Given the description of an element on the screen output the (x, y) to click on. 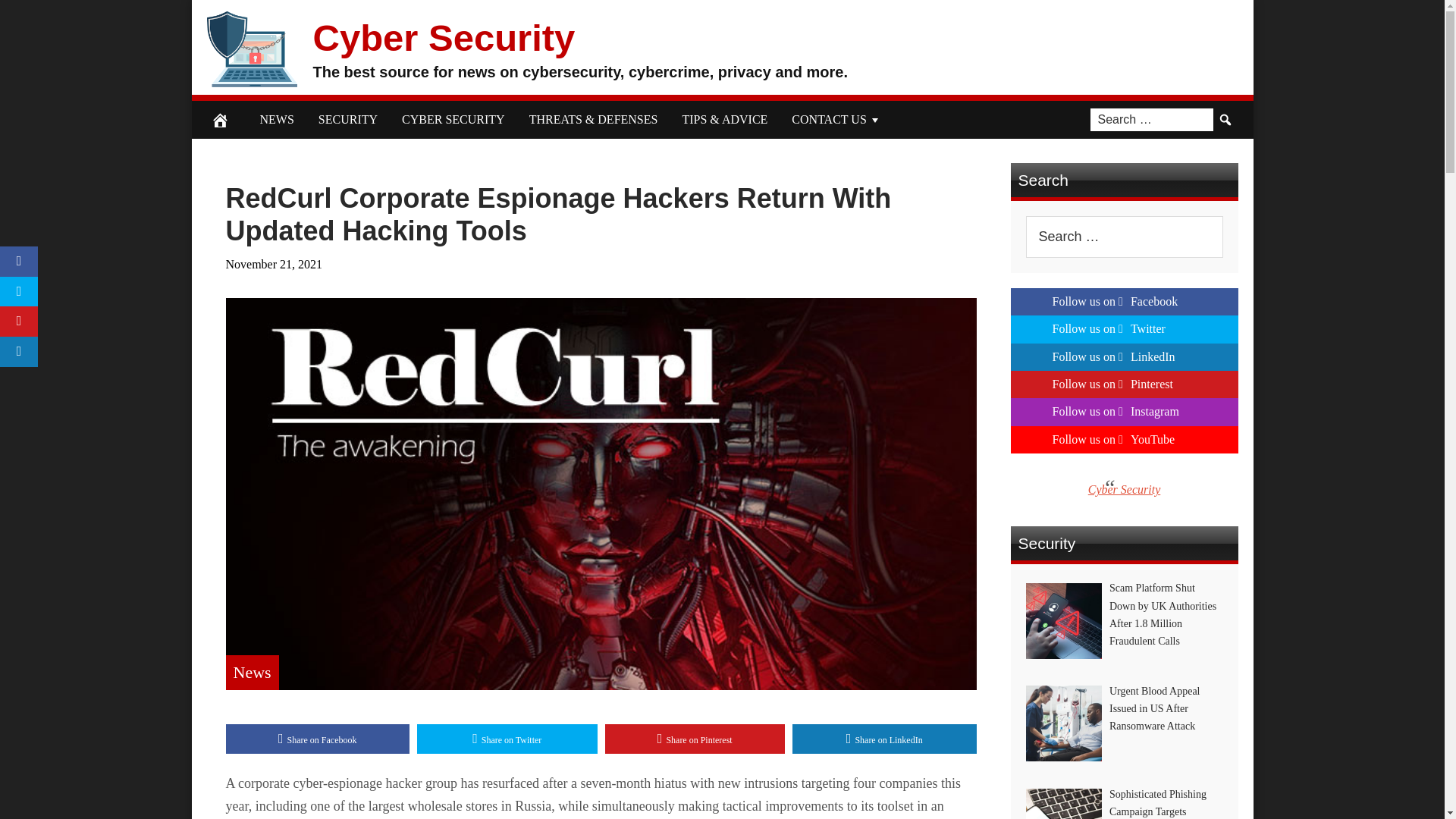
Share on Facebook (317, 738)
Cyber Security (444, 36)
Share on LinkedIn (884, 738)
News (251, 671)
NEWS (276, 119)
CYBER SECURITY (453, 119)
Share on Pinterest (695, 738)
Share on Twitter (506, 738)
